Given the description of an element on the screen output the (x, y) to click on. 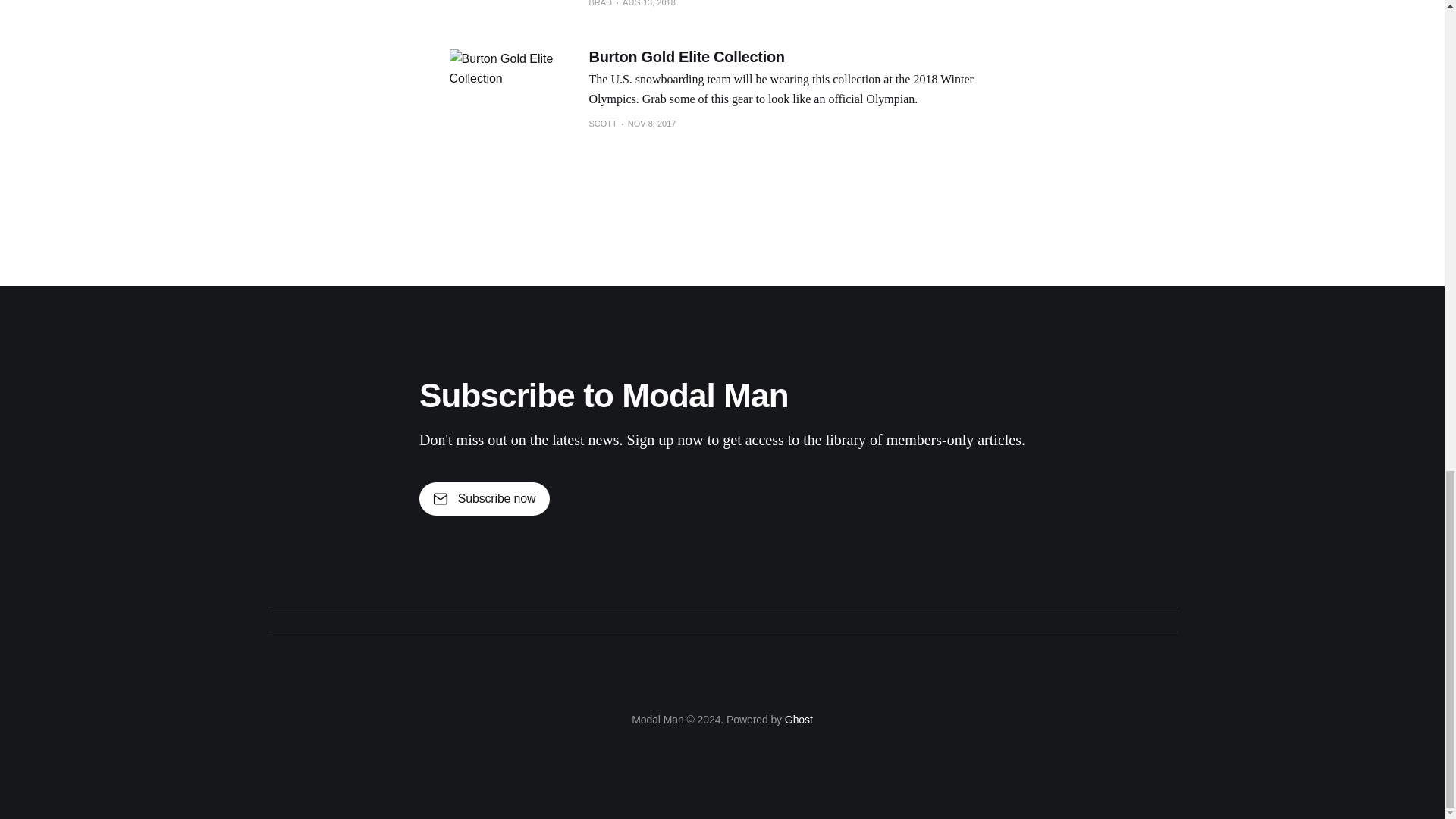
Subscribe now (484, 498)
Ghost (798, 719)
